Given the description of an element on the screen output the (x, y) to click on. 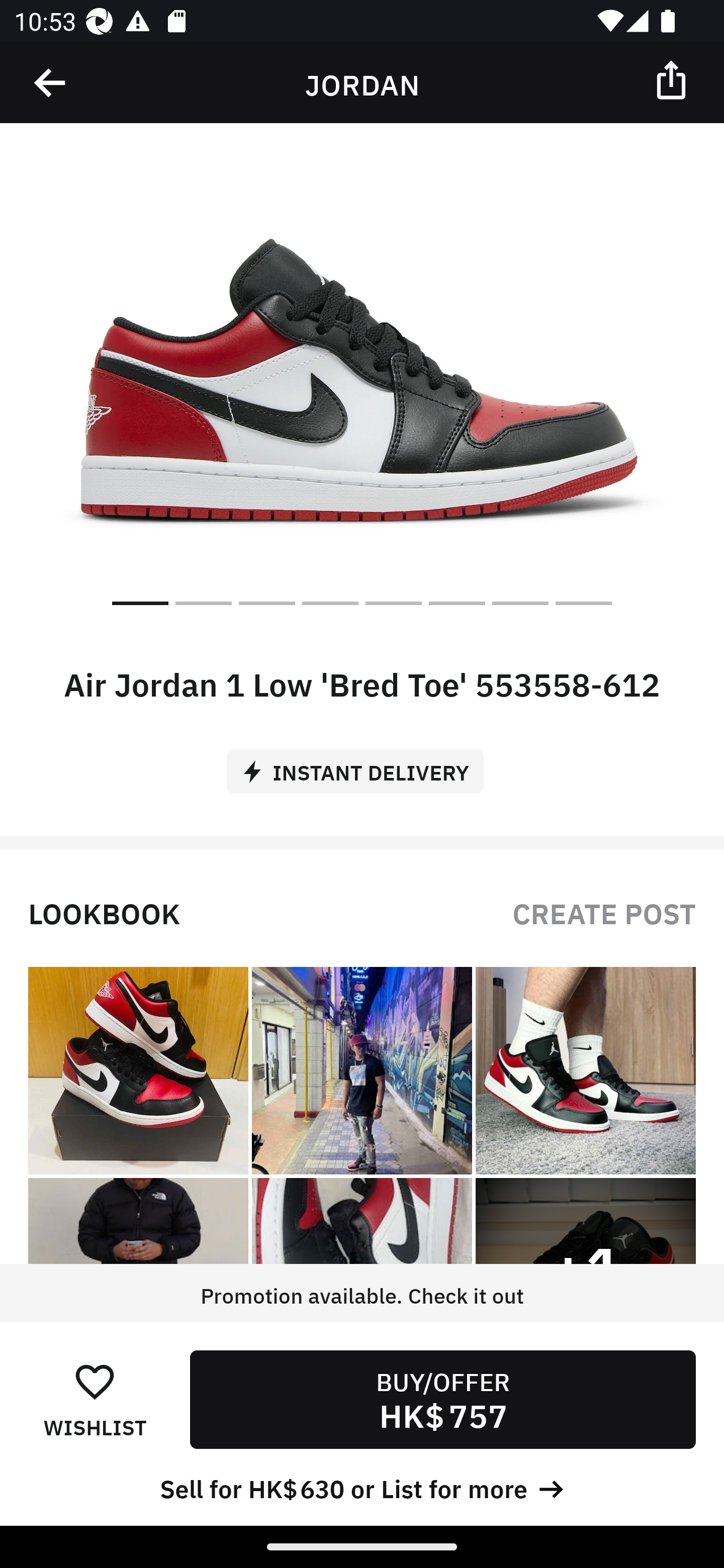
 (50, 83)
 (672, 79)
 INSTANT DELIVERY (362, 764)
CREATE POST (603, 911)
BUY/OFFER HK$ 757 (442, 1399)
󰋕 (94, 1380)
Sell for HK$ 630 or List for more (361, 1486)
